Given the description of an element on the screen output the (x, y) to click on. 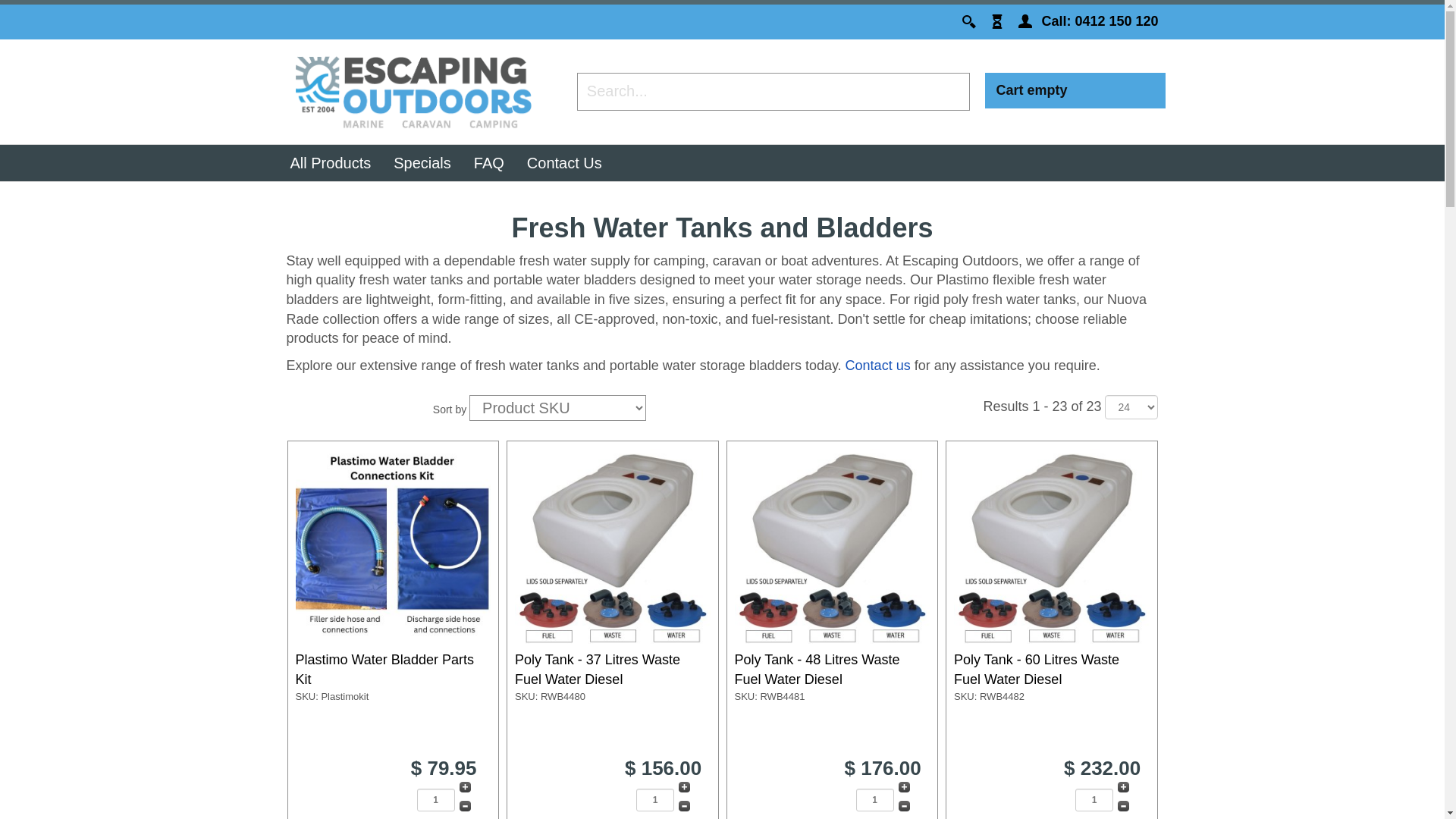
FAQ Element type: text (488, 163)
Poly Tank - 37 Litres Waste Fuel Water Diesel Element type: text (597, 669)
Specials Element type: text (422, 163)
Poly Tank - 48 Litres Waste Fuel Water Diesel Element type: text (816, 669)
Search Element type: hover (968, 20)
Contact us Element type: text (877, 365)
Cart empty Element type: text (1032, 90)
Plastimo Water Bladder Parts Kit Element type: text (384, 669)
All Products Element type: text (330, 163)
Contact Us Element type: text (564, 163)
Poly Tank - 60 Litres Waste Fuel Water Diesel Element type: text (1036, 669)
Your Account Element type: hover (1025, 20)
Tracking Element type: hover (998, 20)
